Given the description of an element on the screen output the (x, y) to click on. 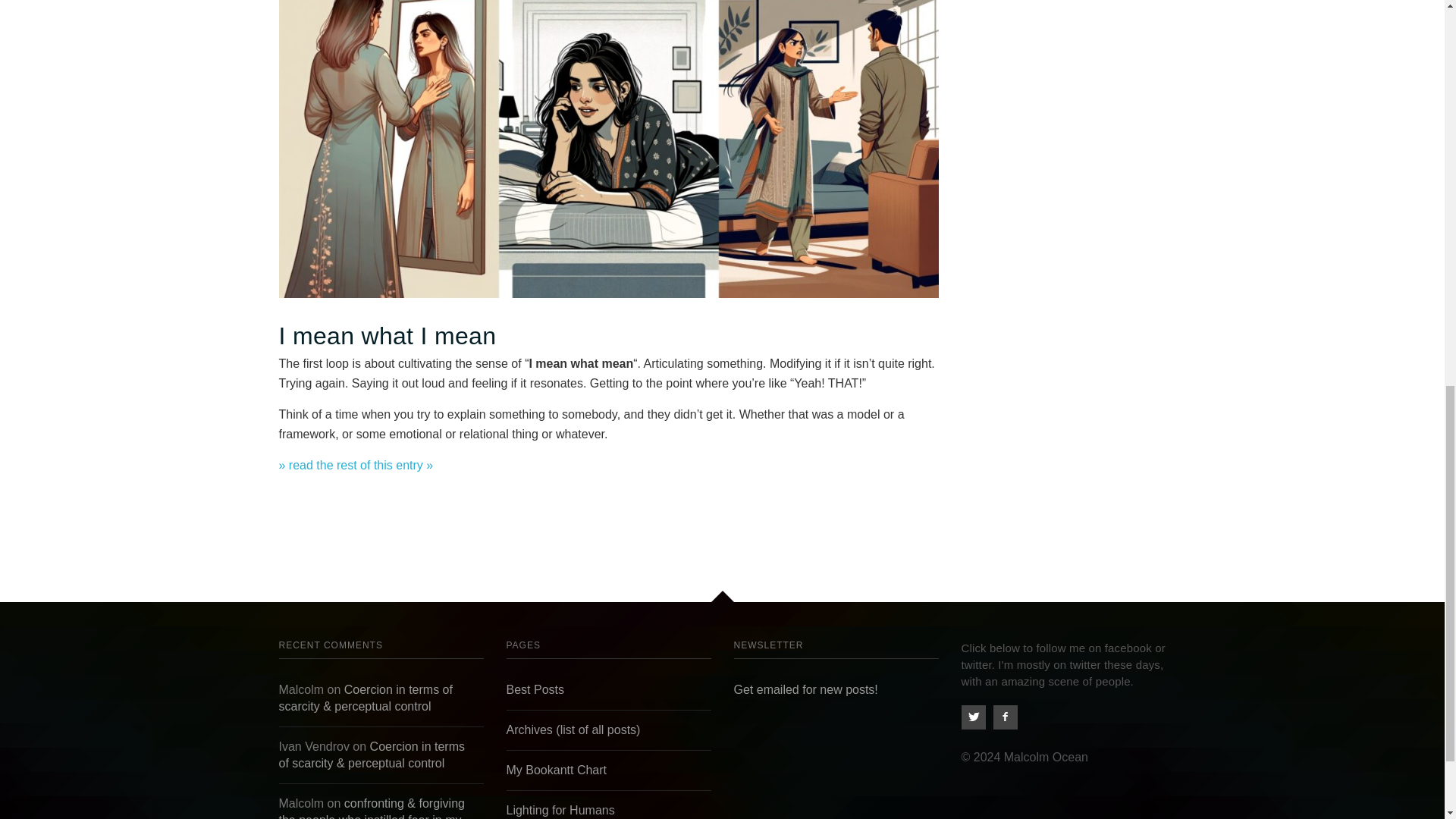
Lighting for Humans (560, 809)
My Bookantt Chart (556, 769)
Best Posts (535, 689)
Get emailed for new posts! (805, 689)
